Given the description of an element on the screen output the (x, y) to click on. 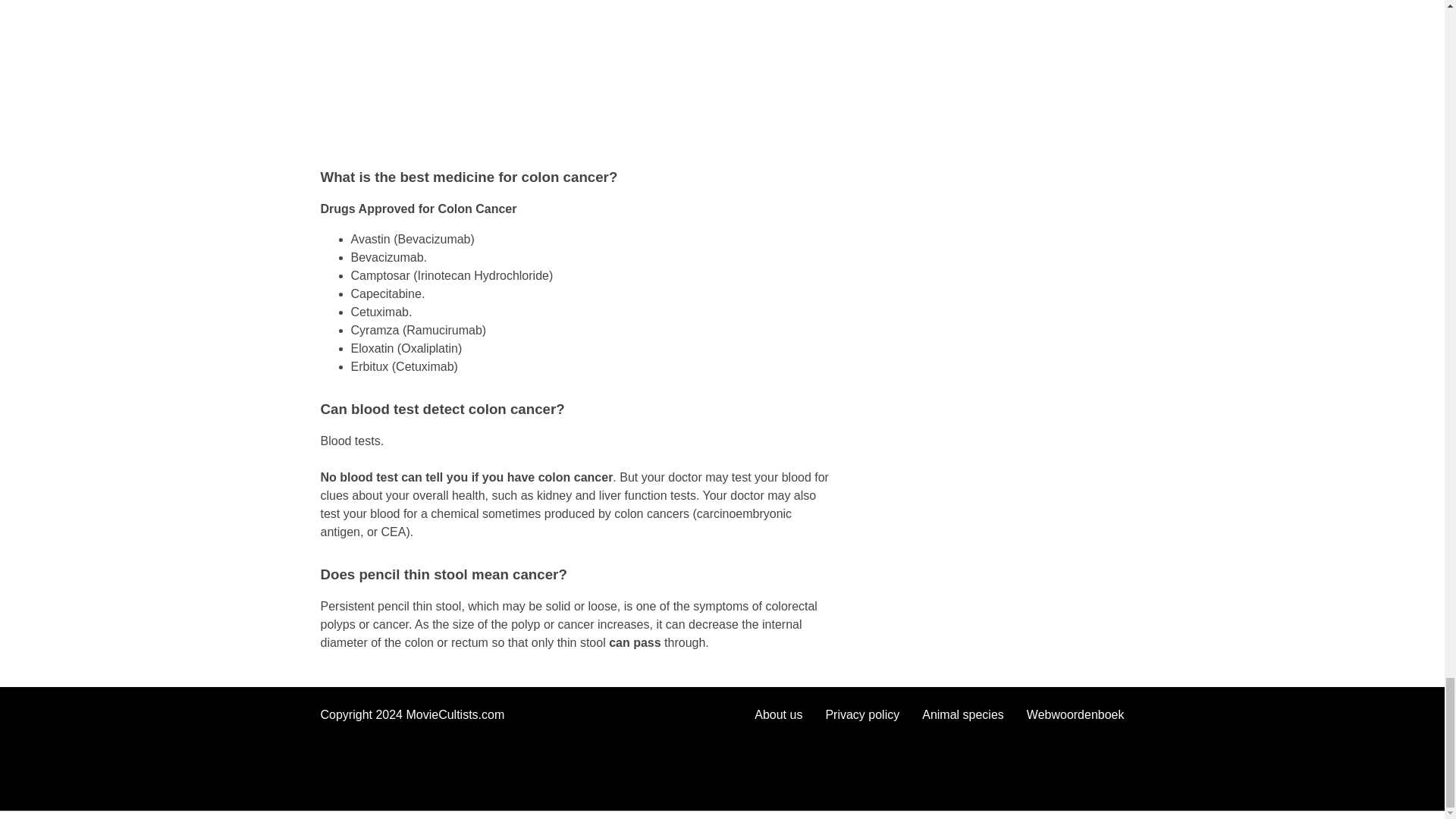
Privacy policy (862, 714)
Animal species (962, 714)
Webwoordenboek (1075, 714)
About us (778, 714)
